Given the description of an element on the screen output the (x, y) to click on. 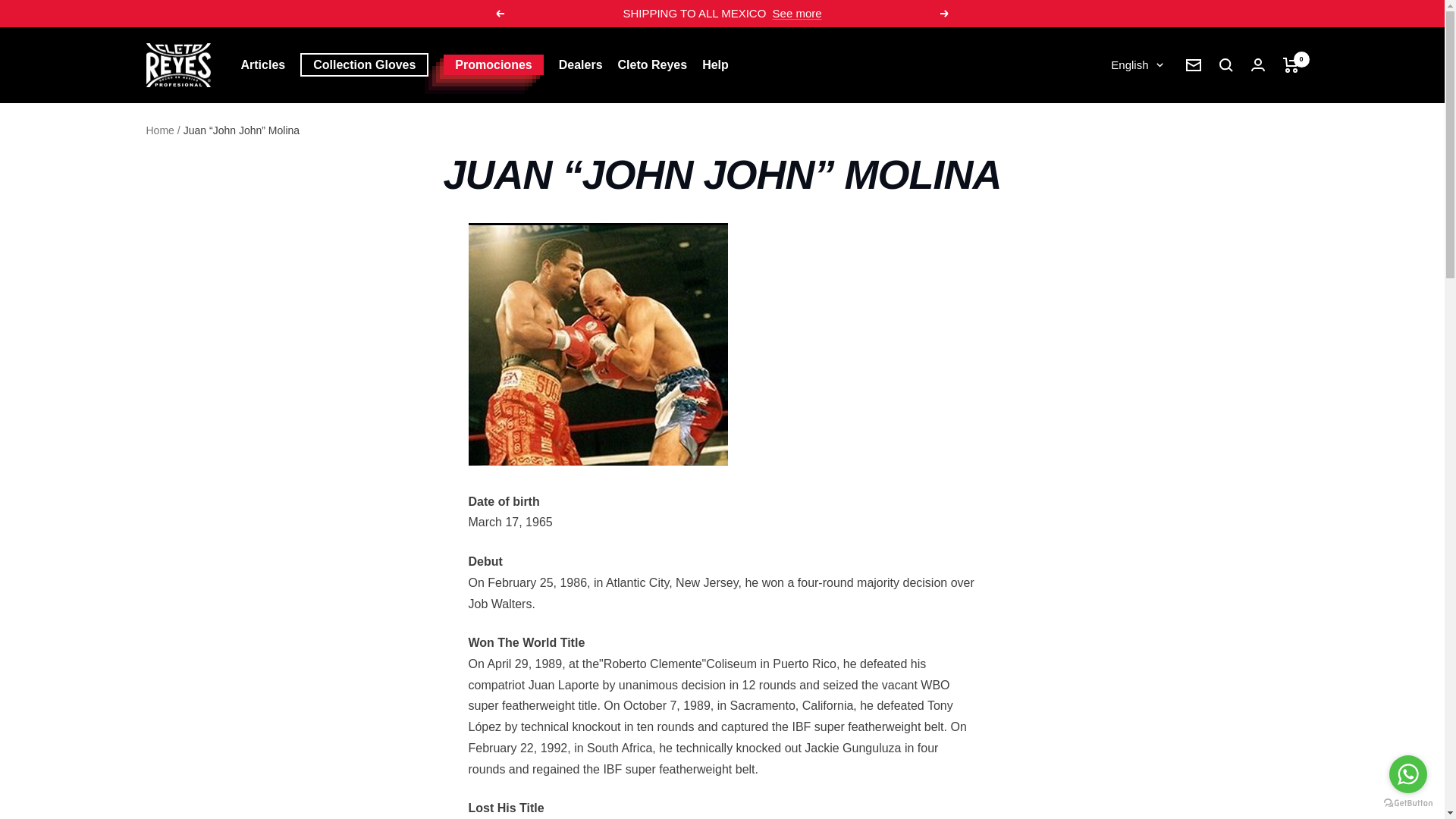
Dealers (580, 65)
Cleto Reyes (652, 65)
Help (715, 65)
Next (944, 13)
Home (159, 130)
en (1098, 145)
Prev (499, 13)
Collection Gloves (363, 65)
es-MX (1098, 118)
English (1135, 65)
